Given the description of an element on the screen output the (x, y) to click on. 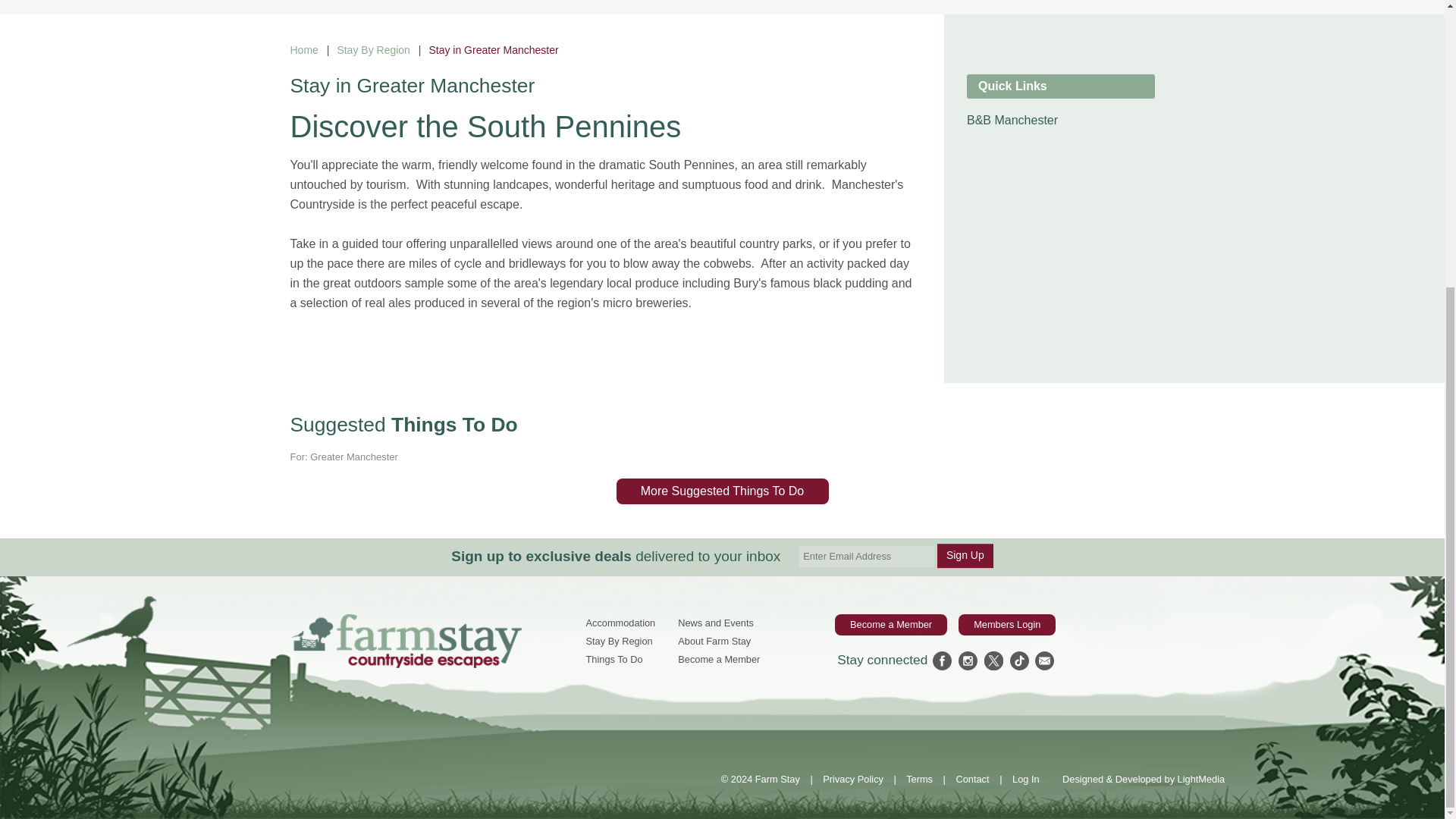
Things To Do (613, 659)
Stay By Region (618, 641)
News and Events (716, 622)
Accommodation (620, 622)
Sign Up (964, 555)
About Farm Stay (714, 641)
Home (303, 50)
Become a Member (890, 624)
Become a Member (719, 659)
Stay By Region (373, 50)
